Given the description of an element on the screen output the (x, y) to click on. 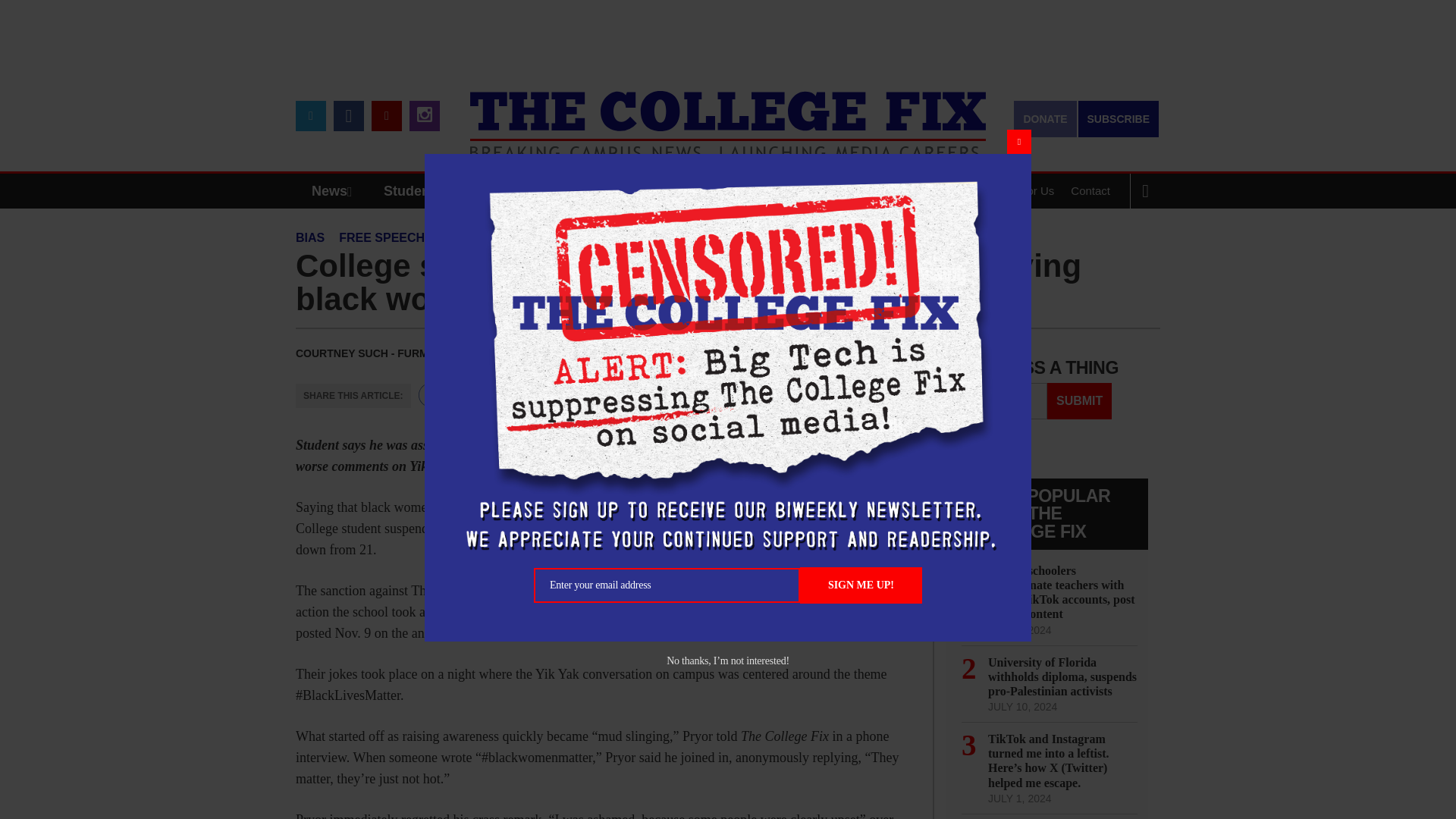
Student Reporters (443, 190)
About The Fix (938, 190)
DONATE (1044, 118)
Submit (1079, 401)
SUBSCRIBE (1118, 118)
The College Fix (727, 114)
MERCHANDISE (577, 190)
News (335, 190)
